Given the description of an element on the screen output the (x, y) to click on. 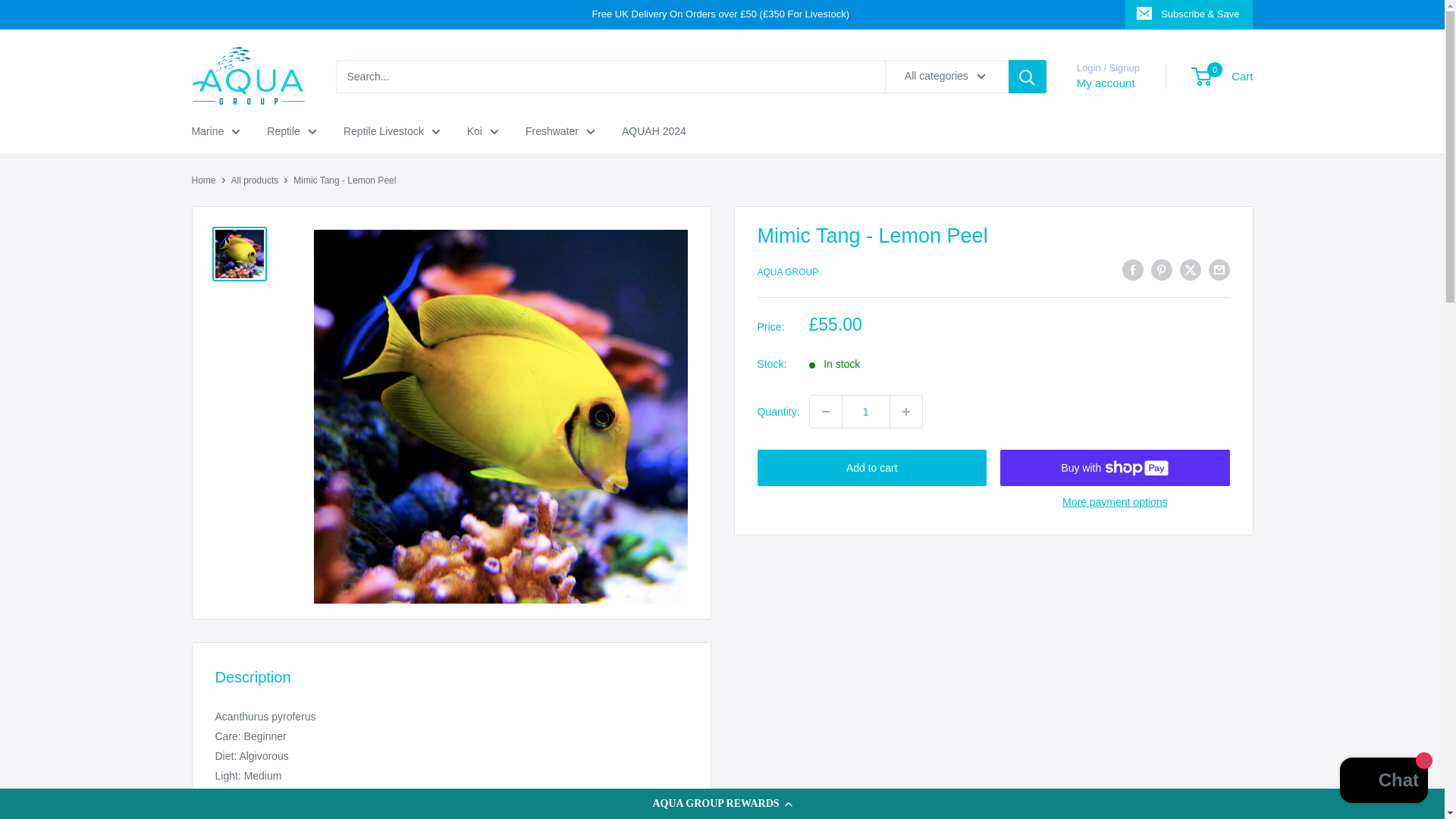
1 (865, 411)
Decrease quantity by 1 (825, 411)
Shopify online store chat (1383, 781)
Increase quantity by 1 (905, 411)
